Given the description of an element on the screen output the (x, y) to click on. 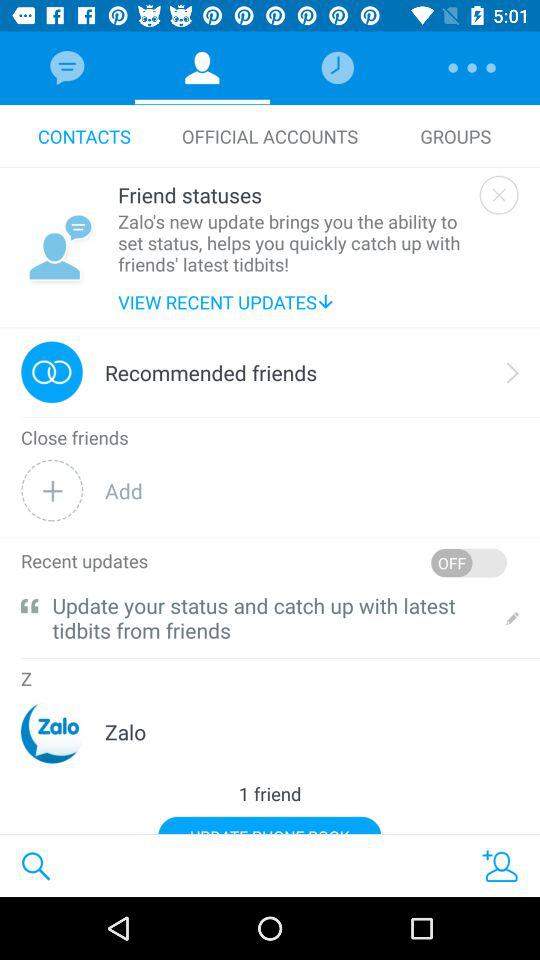
swipe to the recommended friends (211, 372)
